Given the description of an element on the screen output the (x, y) to click on. 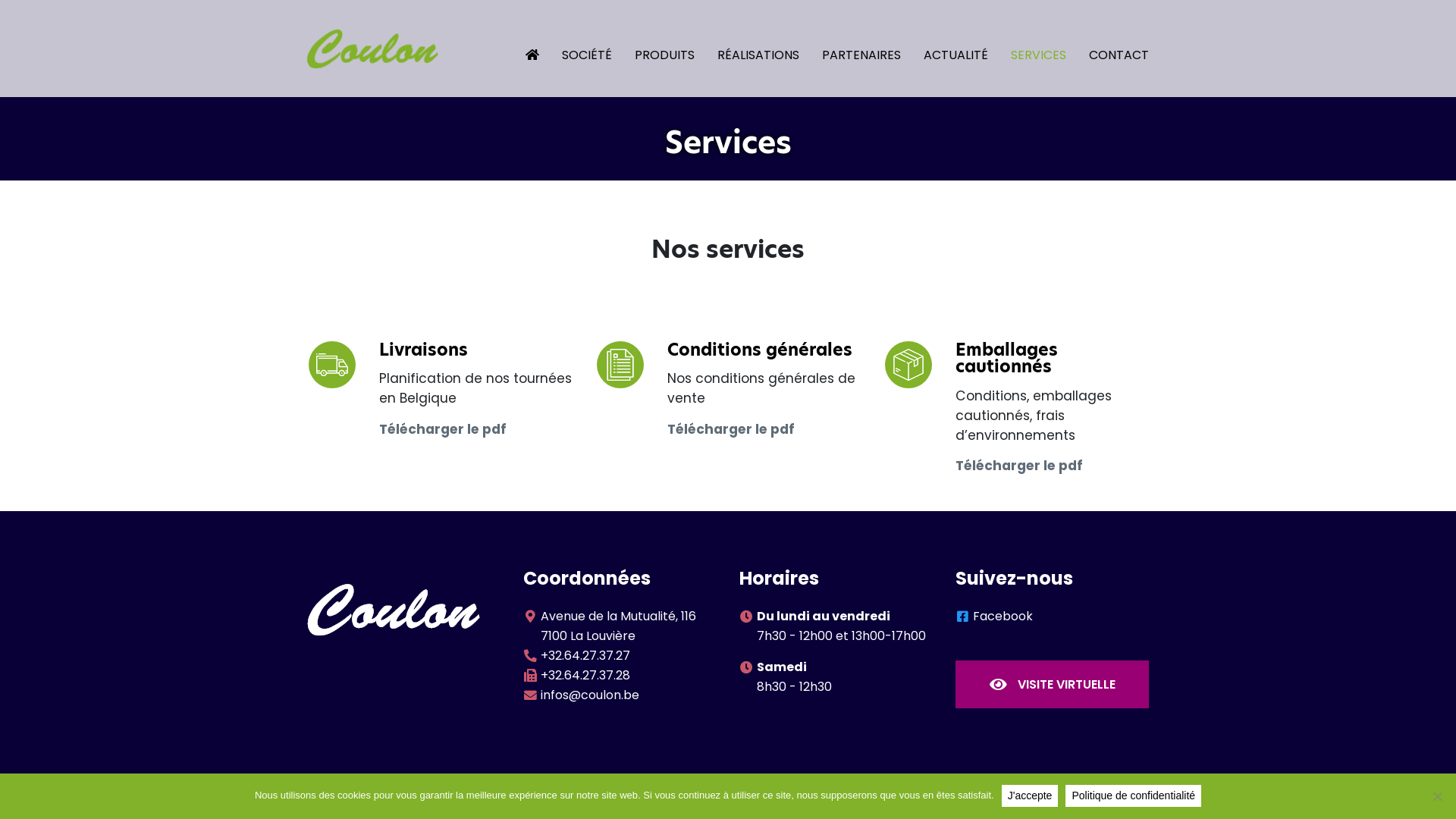
PARTENAIRES Element type: text (849, 47)
emballage Element type: hover (907, 364)
No Element type: hover (1436, 795)
J'accepte Element type: text (1029, 795)
SERVICES Element type: text (1027, 47)
Coulon Element type: hover (393, 608)
PRODUITS Element type: text (652, 47)
infos@coulon.be Element type: text (589, 694)
Facebook Element type: text (1002, 615)
truck Element type: hover (331, 364)
+32.64.27.37.27 Element type: text (585, 655)
VISITE VIRTUELLE Element type: text (1051, 684)
conditions Element type: hover (619, 364)
CONTACT Element type: text (1107, 47)
